Given the description of an element on the screen output the (x, y) to click on. 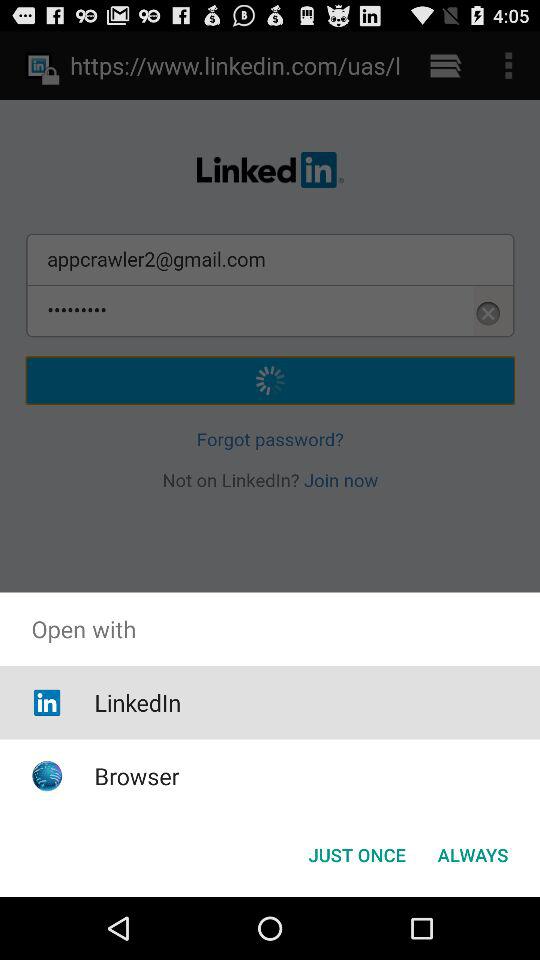
scroll to the browser app (136, 775)
